Given the description of an element on the screen output the (x, y) to click on. 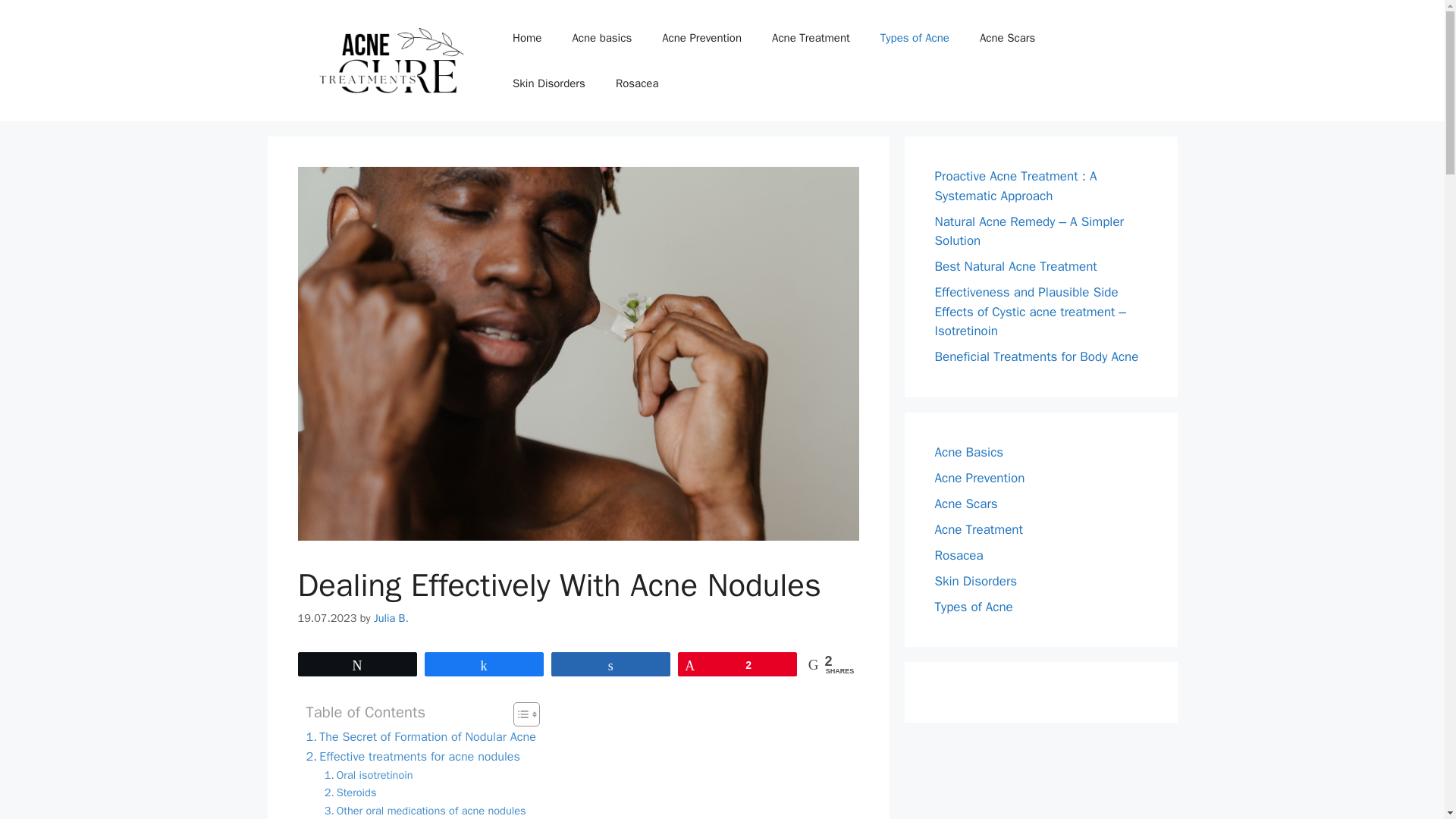
Steroids (350, 792)
Skin Disorders (548, 83)
Effective treatments for acne nodules (412, 756)
Effective treatments for acne nodules (412, 756)
Rosacea (636, 83)
View all posts by Julia B. (391, 617)
Acne basics (601, 37)
Oral isotretinoin (368, 774)
Acne Scars (1006, 37)
Acne Prevention (701, 37)
